Given the description of an element on the screen output the (x, y) to click on. 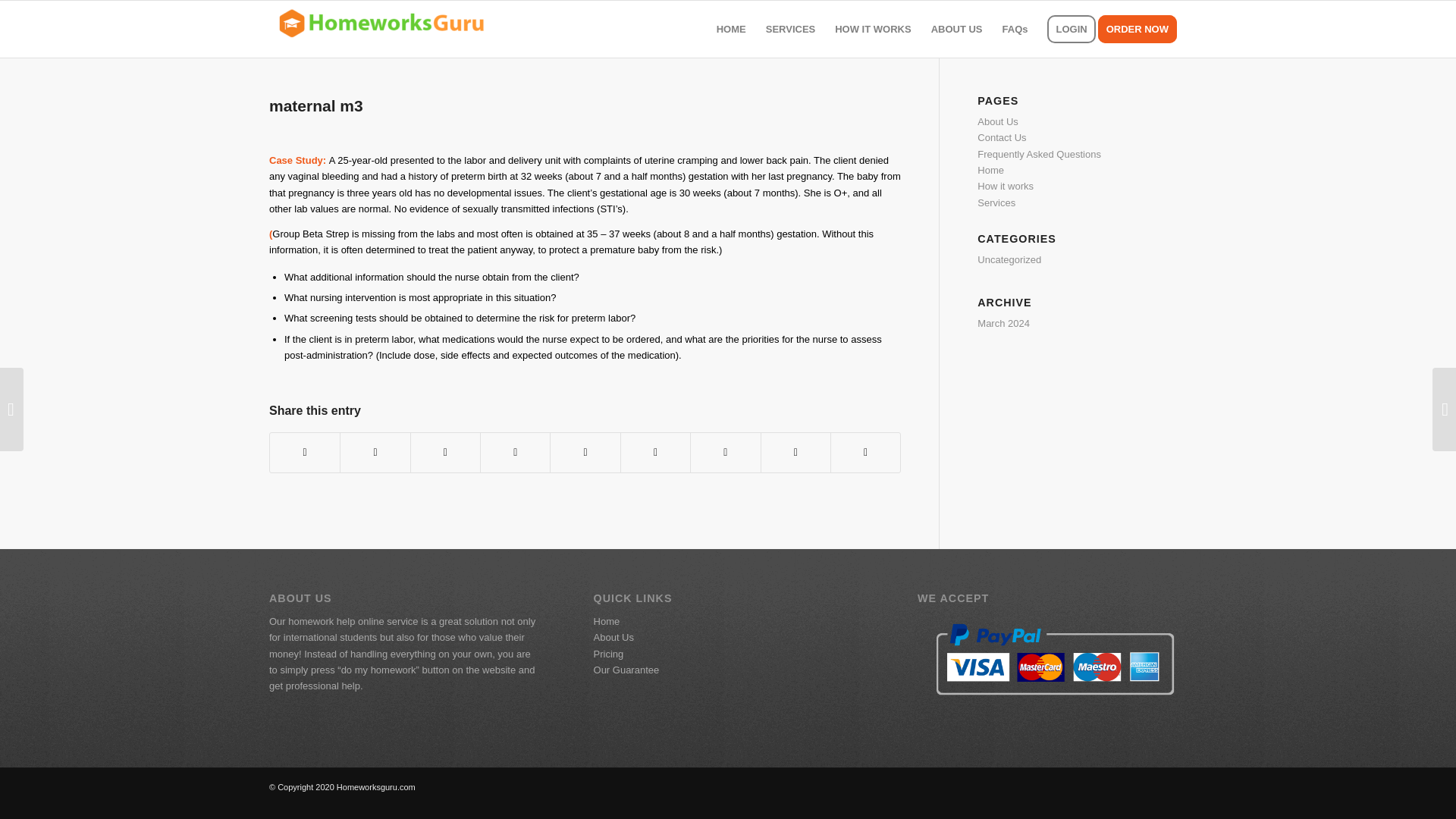
Home (990, 170)
Uncategorized (1008, 259)
ABOUT US (956, 28)
HOW IT WORKS (872, 28)
Permanent Link: maternal m3 (315, 105)
maternal m3 (315, 105)
Contact Us (1001, 137)
Frequently Asked Questions (1038, 153)
ORDER NOW (1141, 28)
Services (995, 202)
How it works (1004, 185)
About Us (996, 121)
SERVICES (790, 28)
LOGIN (1070, 28)
March 2024 (1002, 323)
